Given the description of an element on the screen output the (x, y) to click on. 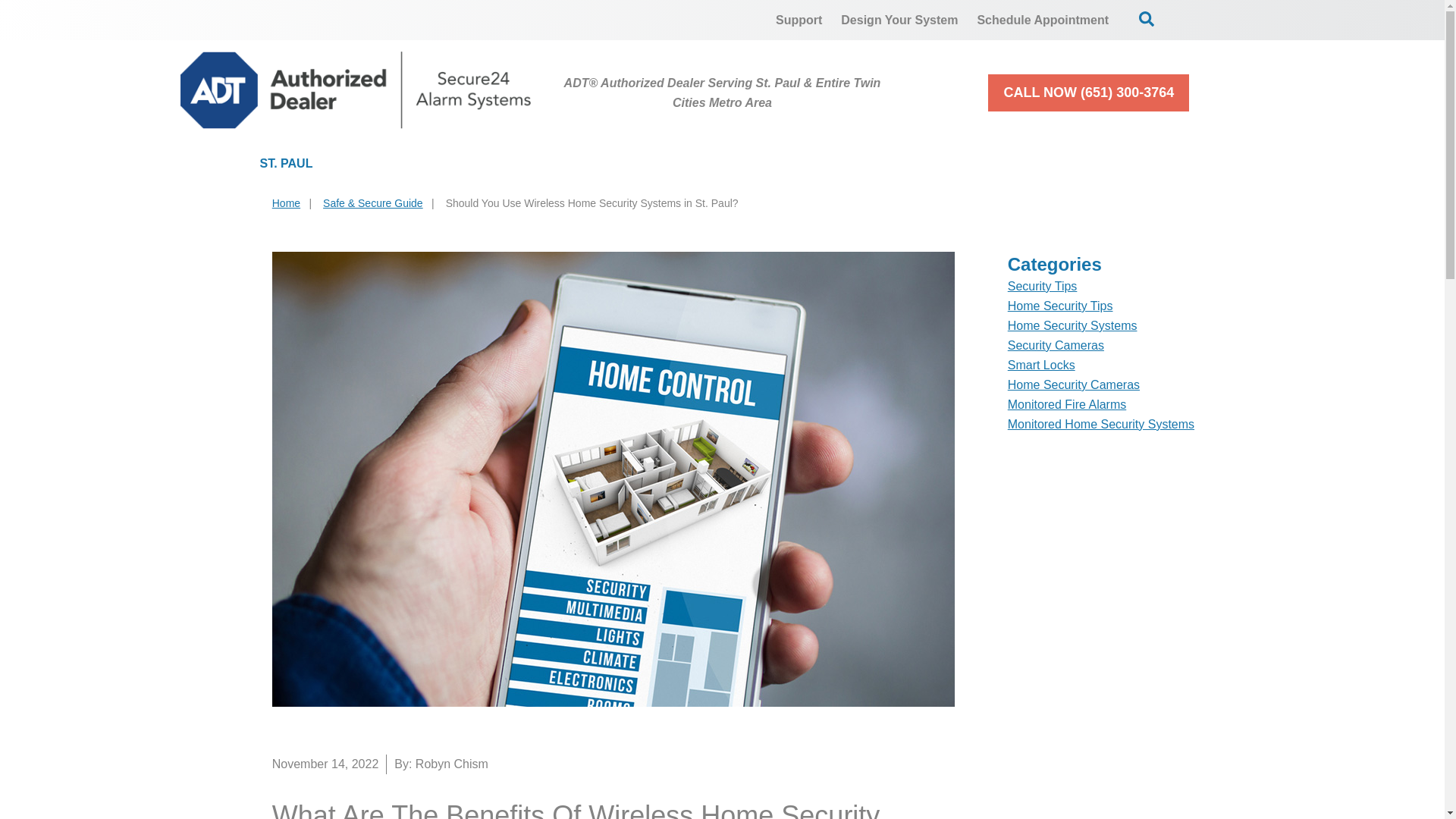
Expand Menu (617, 163)
Expand Menu (806, 163)
Open Search (1146, 18)
Home Security (432, 163)
Design Your System (898, 20)
Cameras (585, 163)
Expand Menu (1169, 163)
Expand Menu (482, 163)
Secure24 Alarm Systems Home (355, 89)
Home Automation (747, 163)
Expand Menu (964, 163)
Schedule Appointment (1042, 20)
Support (798, 20)
